Given the description of an element on the screen output the (x, y) to click on. 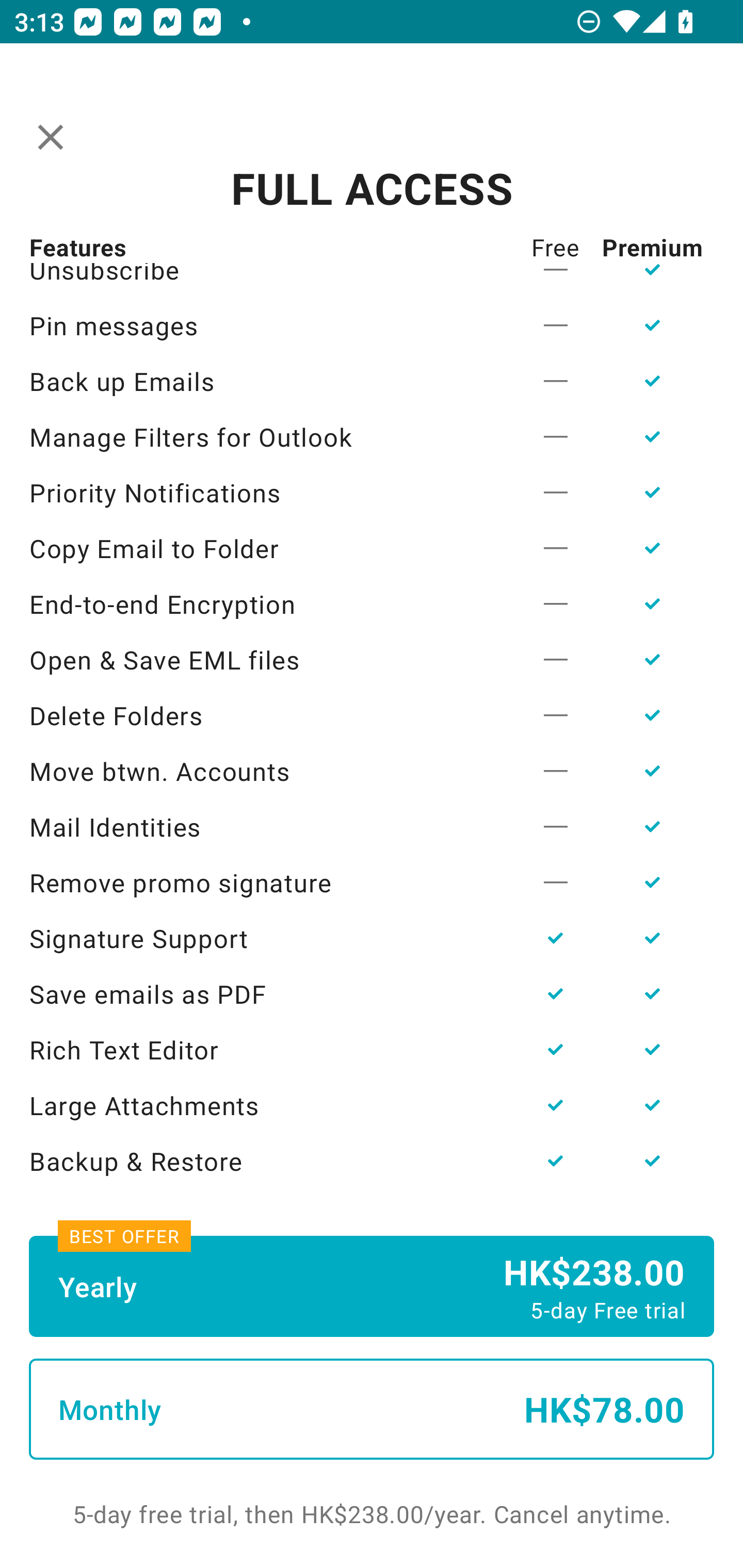
Yearly HK$238.00 5-day Free trial (371, 1286)
Monthly HK$78.00 (371, 1408)
